Given the description of an element on the screen output the (x, y) to click on. 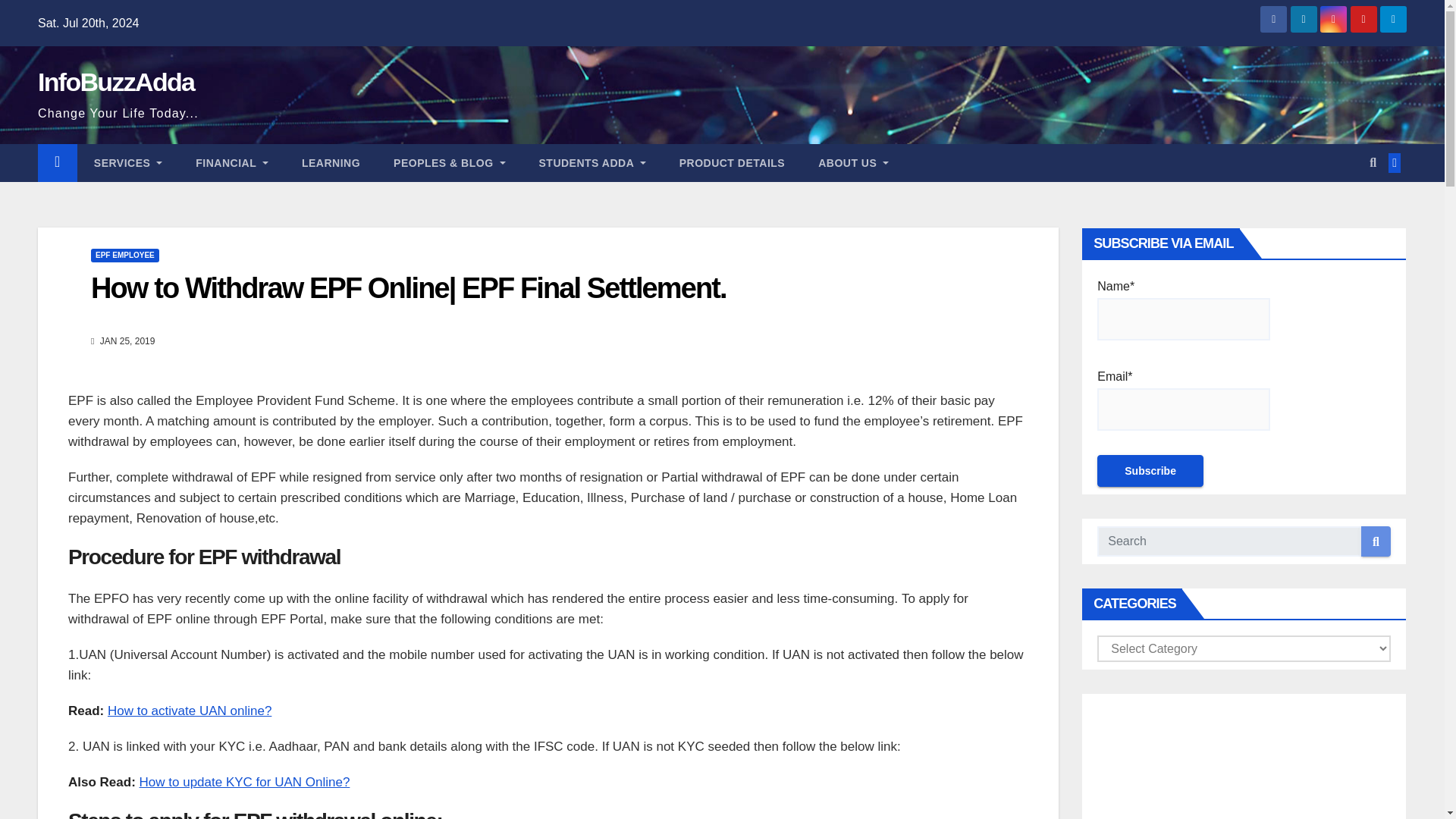
Services (128, 162)
Subscribe (1150, 470)
Financial (232, 162)
LEARNING (331, 162)
STUDENTS ADDA (591, 162)
SERVICES (128, 162)
Learning (331, 162)
FINANCIAL (232, 162)
InfoBuzzAdda (115, 81)
